Given the description of an element on the screen output the (x, y) to click on. 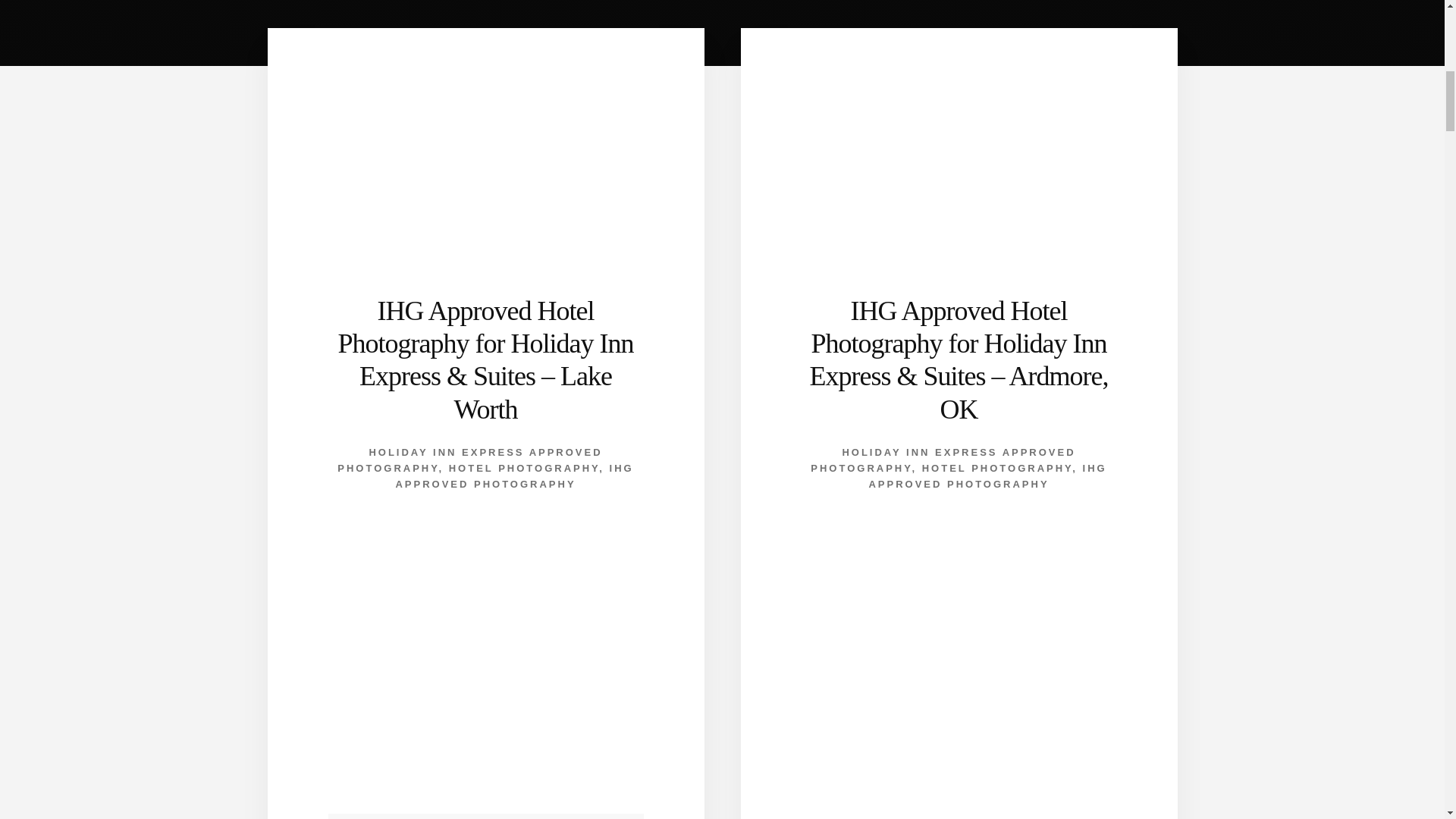
HOLIDAY INN EXPRESS APPROVED PHOTOGRAPHY (469, 460)
HOTEL PHOTOGRAPHY (523, 468)
IHG APPROVED PHOTOGRAPHY (513, 475)
